Given the description of an element on the screen output the (x, y) to click on. 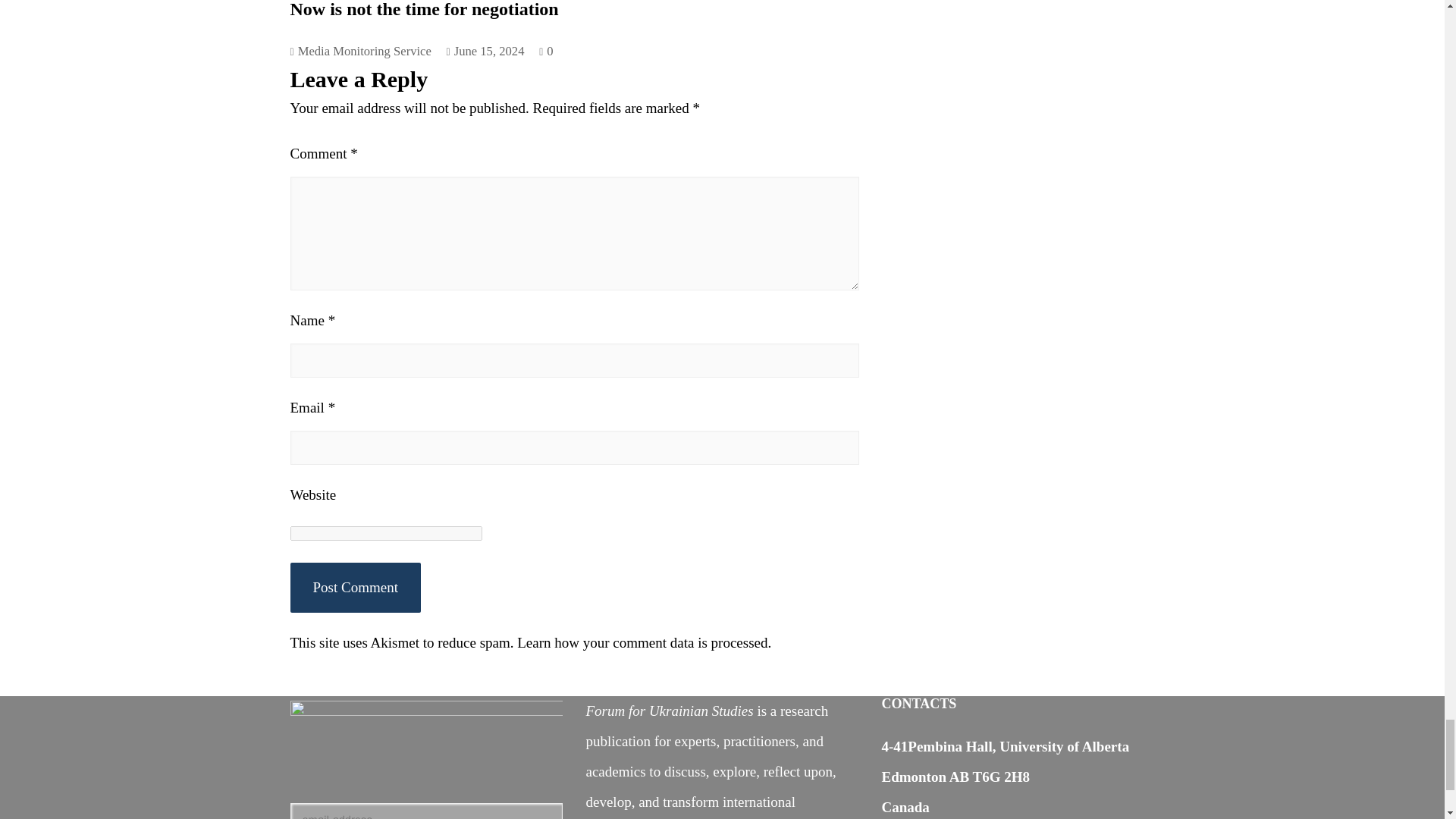
Post Comment (354, 587)
